Given the description of an element on the screen output the (x, y) to click on. 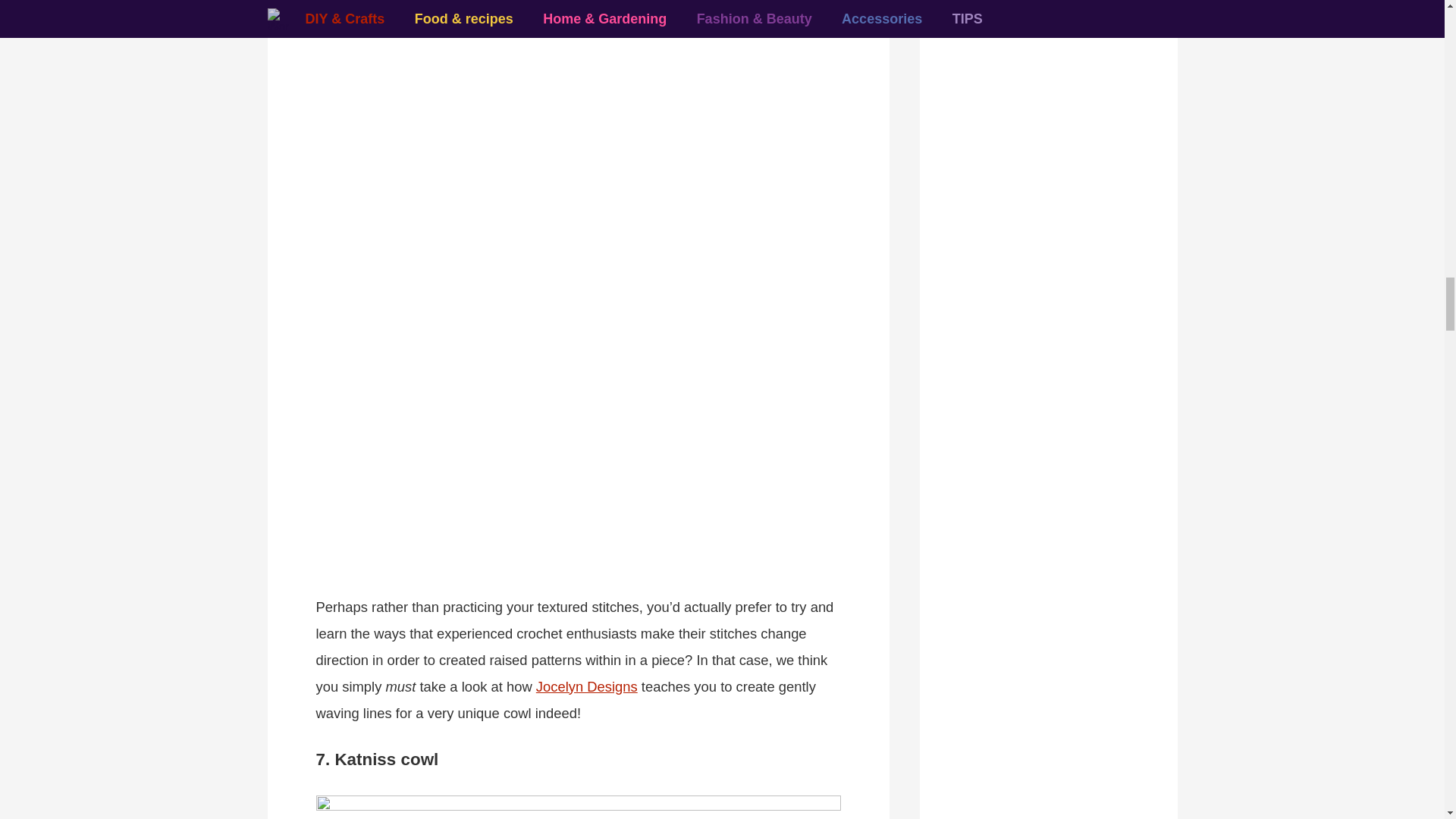
Jocelyn Designs (586, 686)
